Given the description of an element on the screen output the (x, y) to click on. 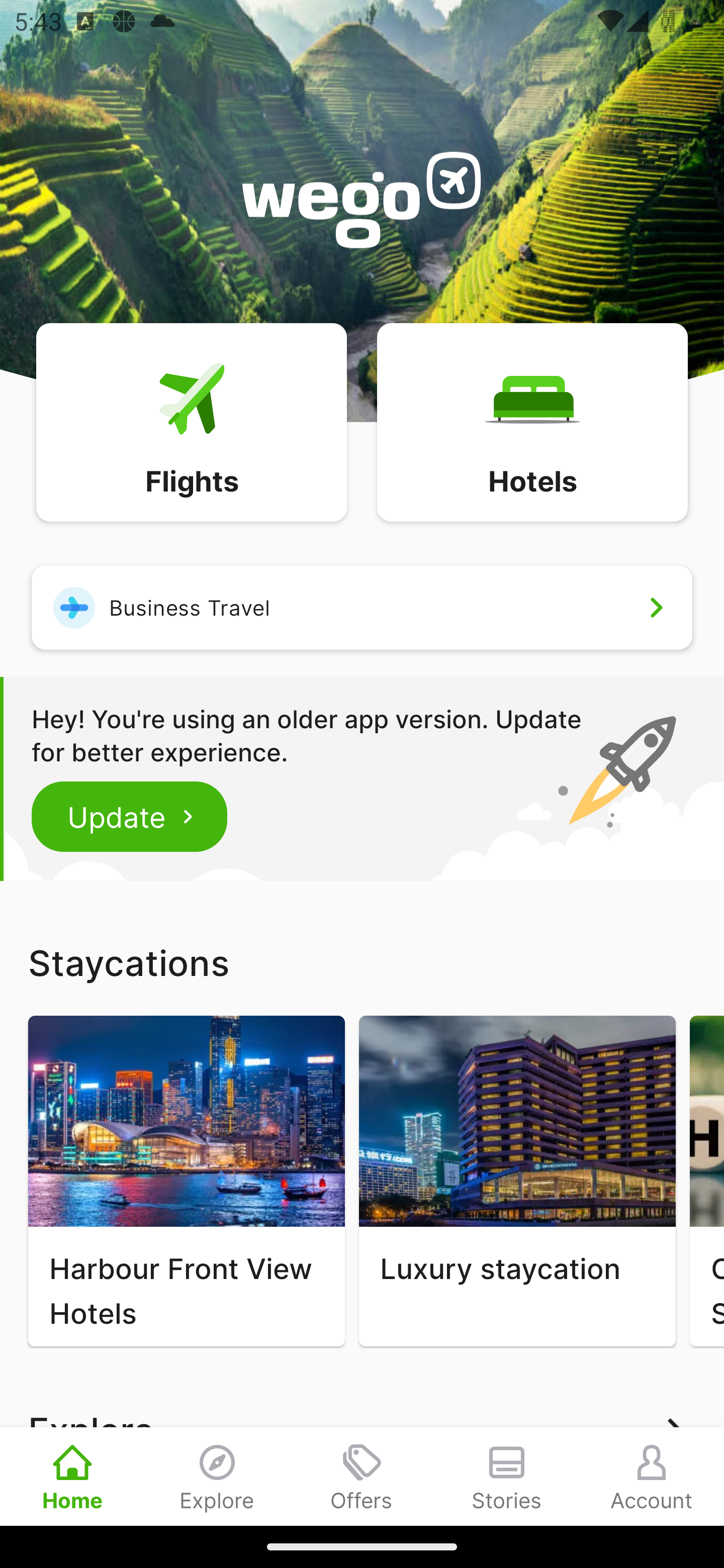
Flights (191, 420)
Hotels (532, 420)
Business Travel (361, 607)
Update (129, 815)
Staycations (362, 962)
Harbour Front View Hotels (186, 1181)
Luxury staycation (517, 1181)
Explore (216, 1475)
Offers (361, 1475)
Stories (506, 1475)
Account (651, 1475)
